Given the description of an element on the screen output the (x, y) to click on. 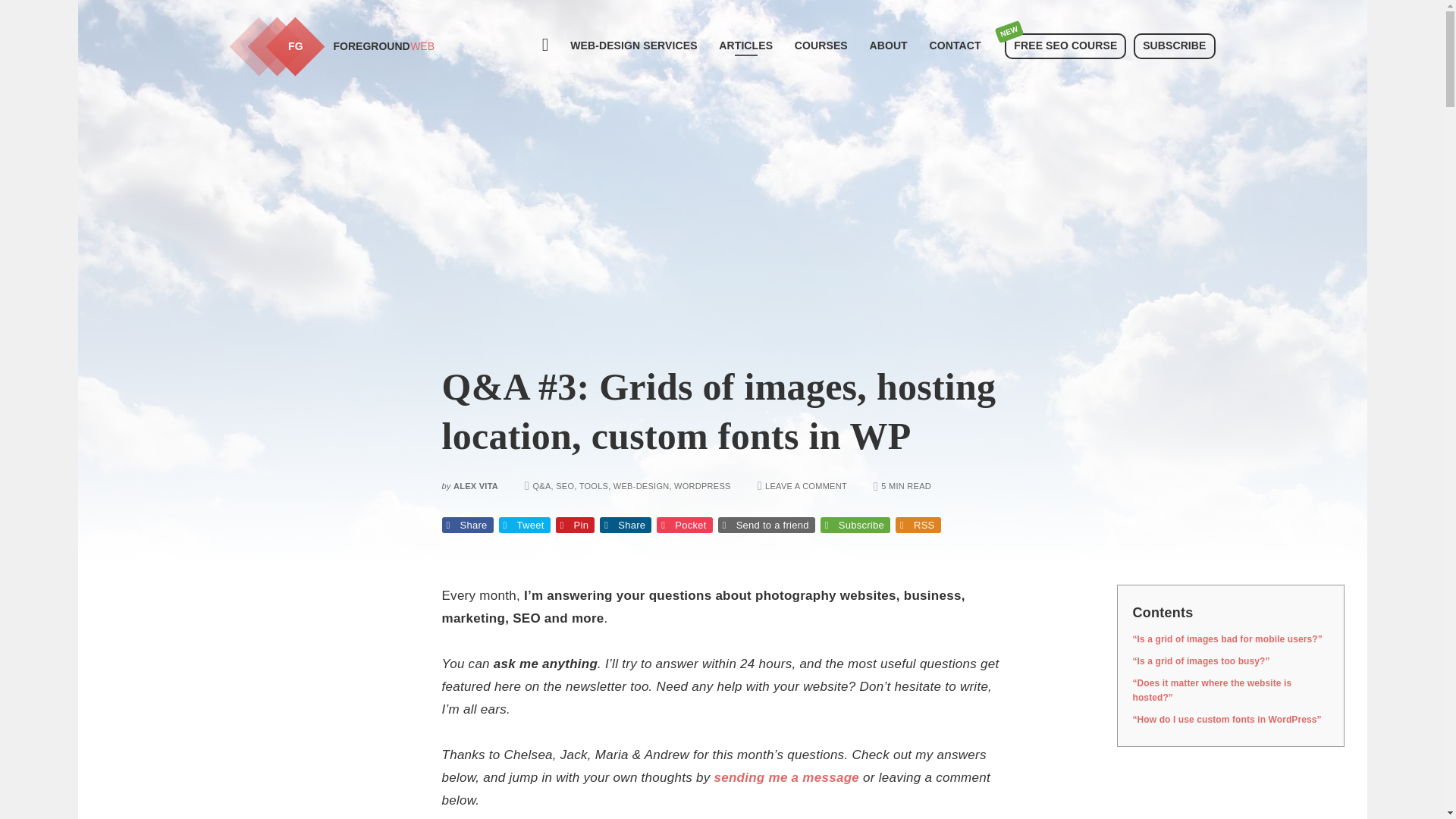
Web-design and development posts for photographers (347, 46)
Get in touch with Alex (745, 46)
Pocket (954, 46)
RSS (683, 524)
Back to the homepage (917, 524)
Web-design services for photographers (347, 46)
LEAVE A COMMENT (633, 46)
Send to a friend (806, 485)
Tweet (766, 524)
